Given the description of an element on the screen output the (x, y) to click on. 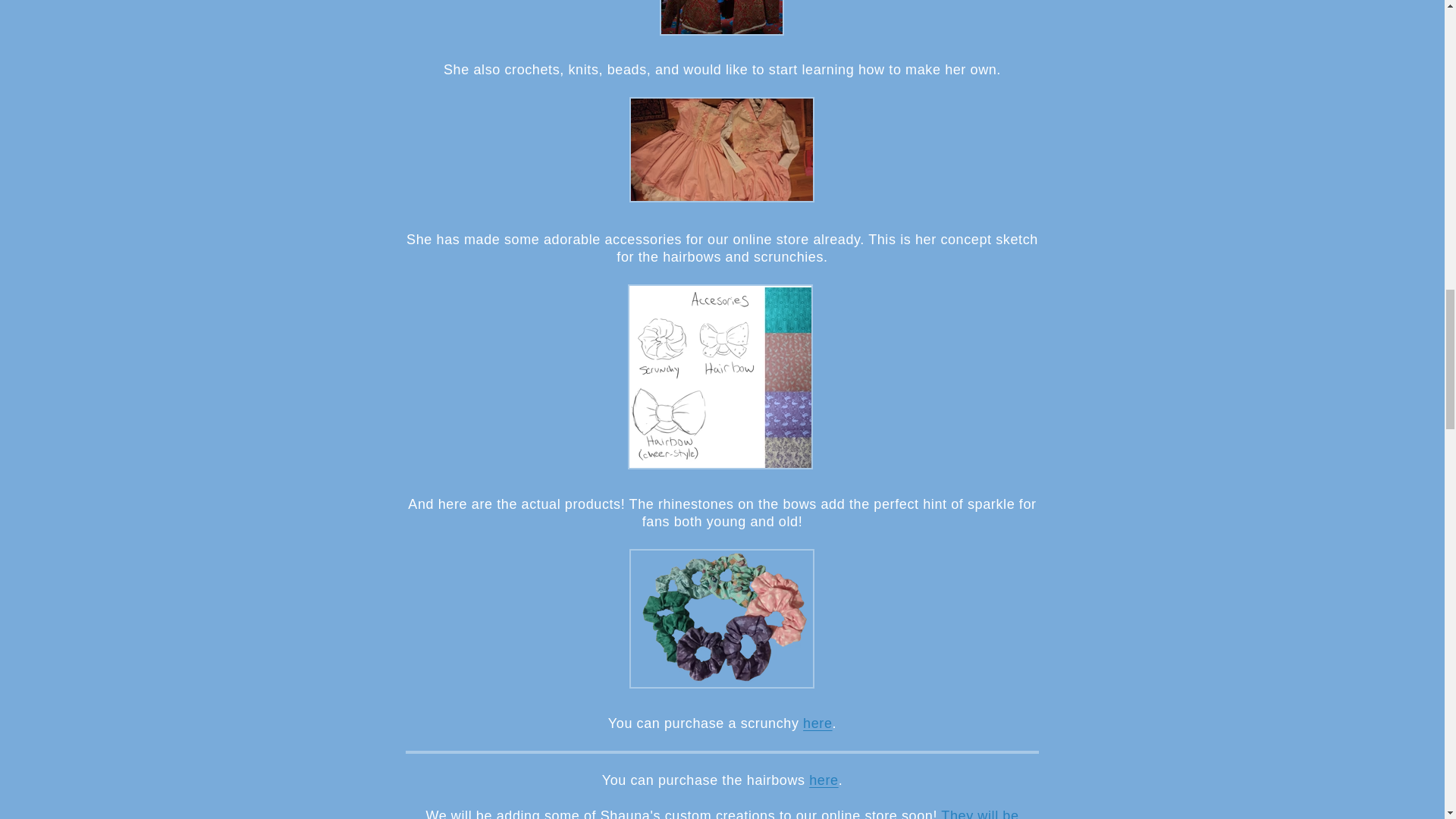
Scrunchie (720, 686)
Handmade collection (755, 813)
Scrunchie (817, 723)
Swan Princess Hair bows (823, 780)
